Given the description of an element on the screen output the (x, y) to click on. 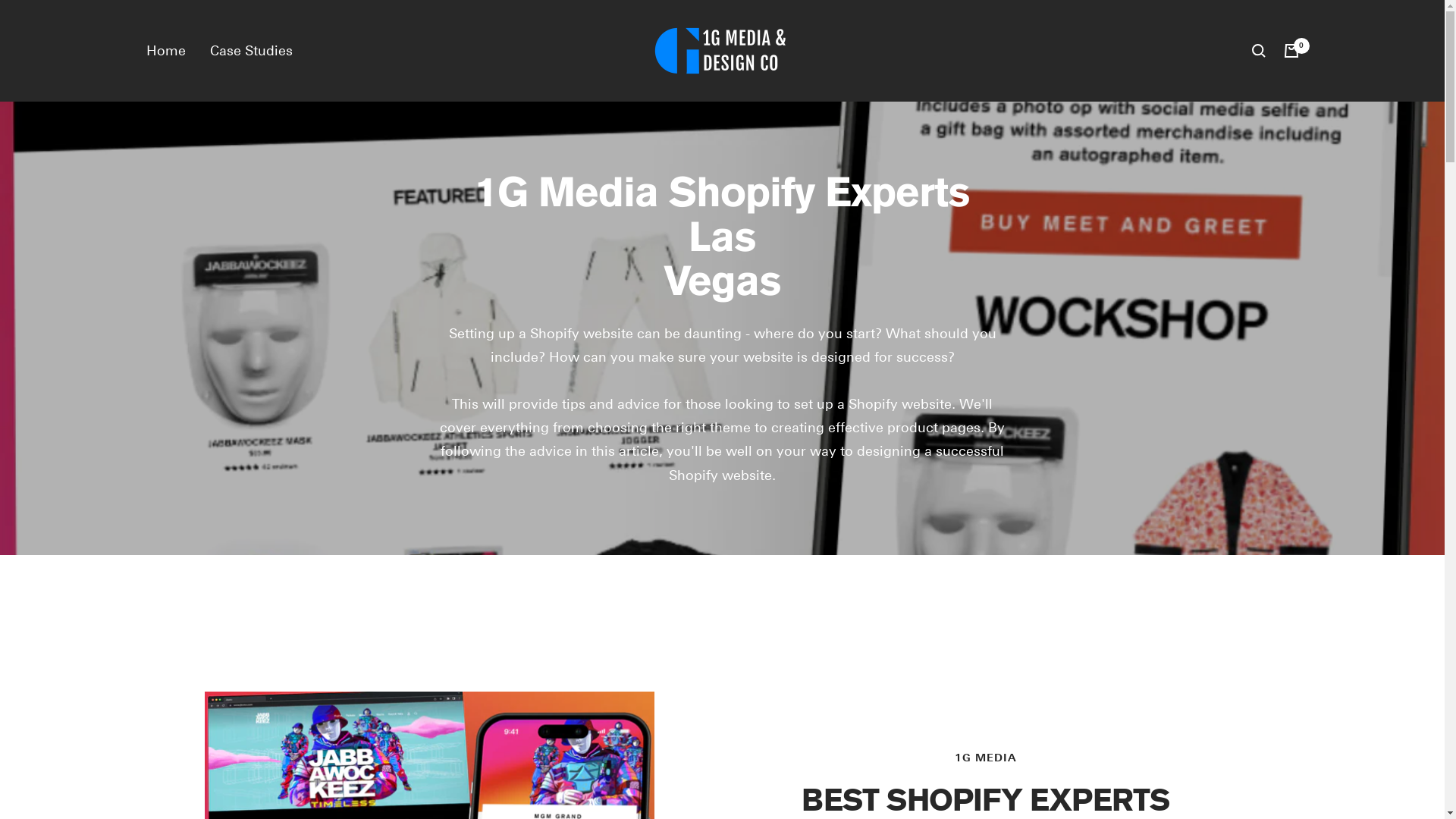
1G Media Element type: text (722, 50)
Home Element type: text (165, 50)
0 Element type: text (1290, 50)
Case Studies Element type: text (250, 50)
